Given the description of an element on the screen output the (x, y) to click on. 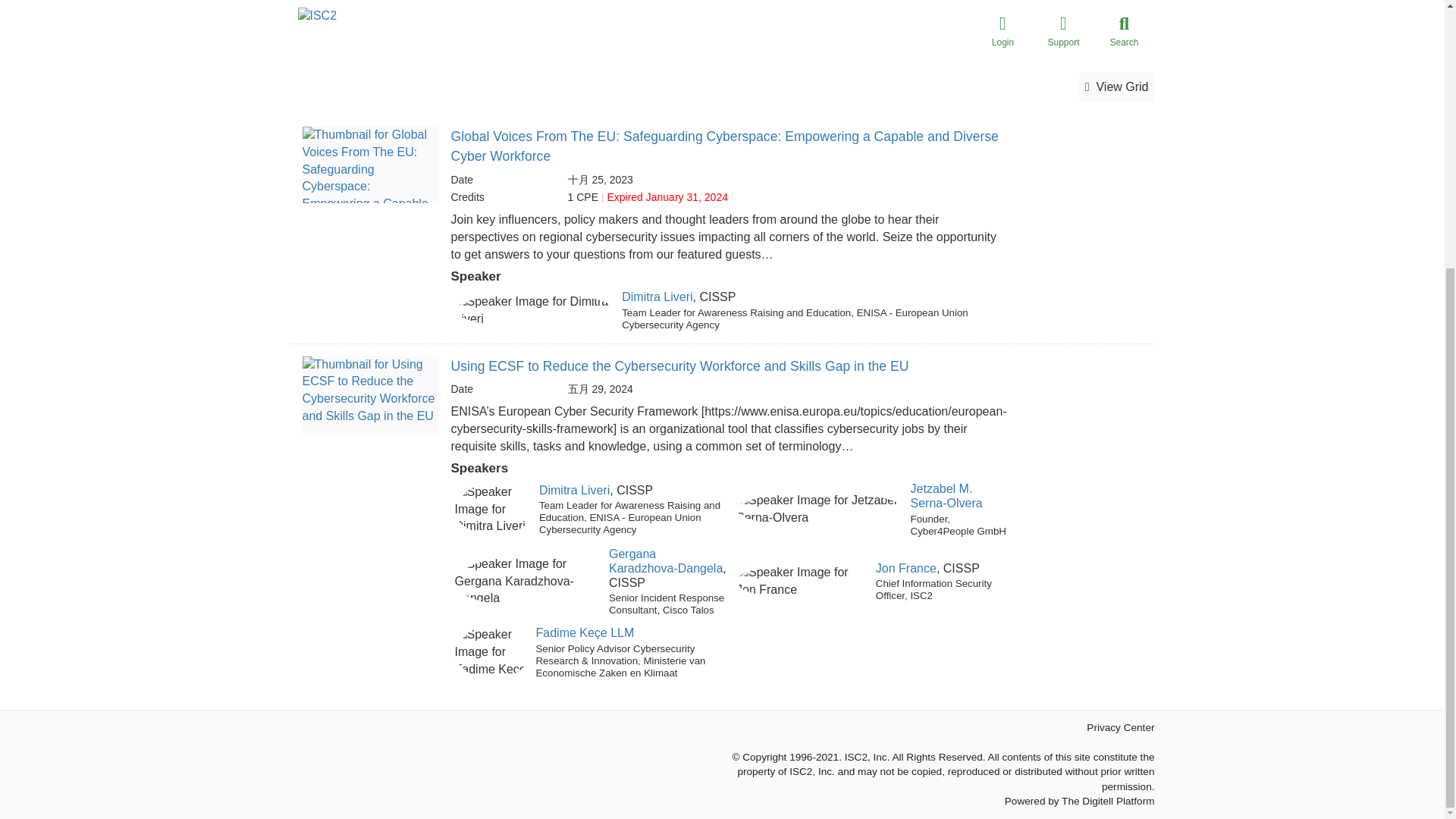
Privacy Center (1120, 727)
Gergana Karadzhova-Dangela (665, 560)
Dimitra Liveri (574, 490)
Speaker Image for Jetzabel Serna-Olvera (820, 509)
  View Grid (1116, 87)
Jetzabel M. Serna-Olvera (946, 495)
Dimitra Liveri (657, 296)
Speaker Image for Jon France (802, 581)
Speaker Image for Dimitra Liveri (534, 310)
Speaker Image for Dimitra Liveri (493, 510)
Speaker Image for Gergana Karadzhova-Dangela (528, 582)
Jon France (906, 567)
